Given the description of an element on the screen output the (x, y) to click on. 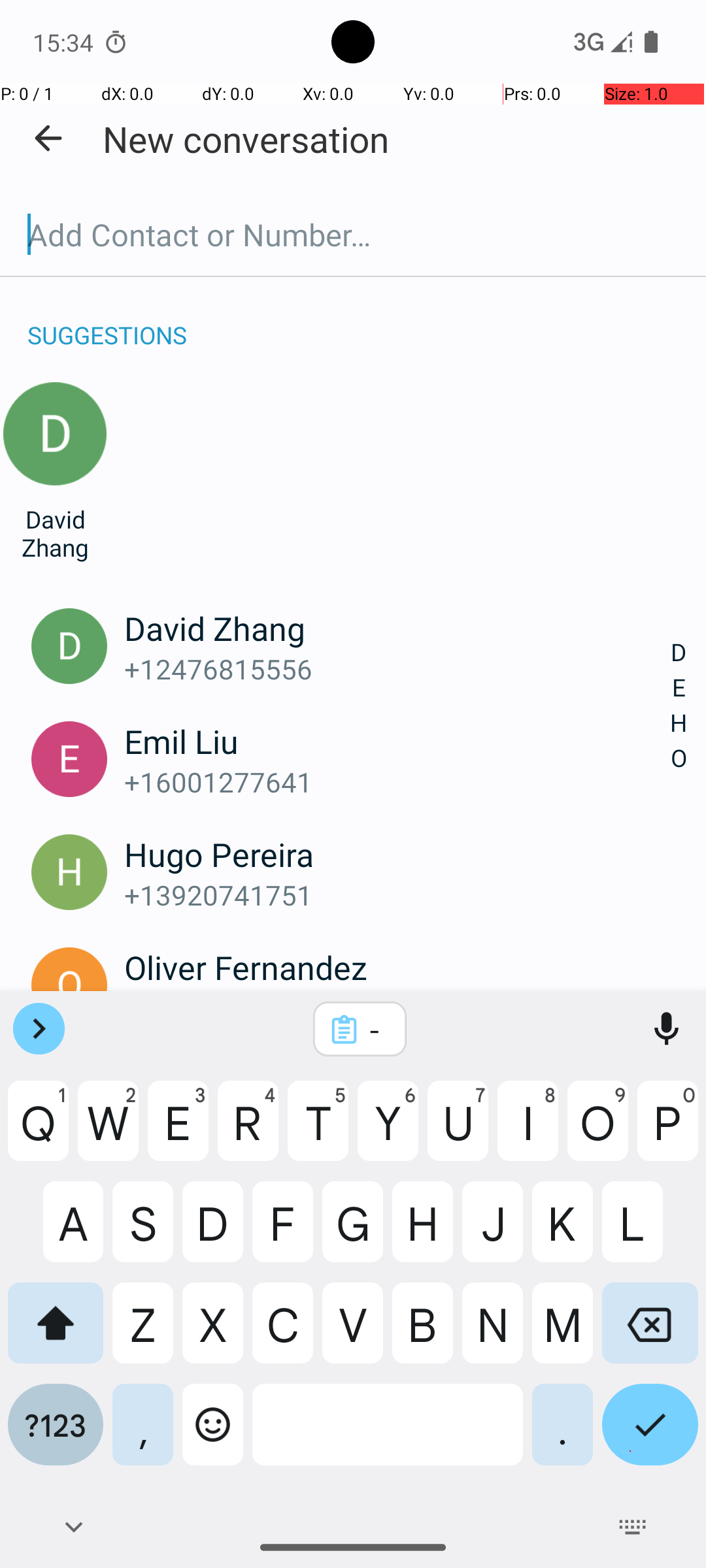
SUGGESTIONS Element type: android.widget.TextView (106, 321)
D
E
H
O Element type: android.widget.TextView (678, 705)
David Zhang Element type: android.widget.TextView (54, 532)
+12476815556 Element type: android.widget.TextView (397, 668)
+16001277641 Element type: android.widget.TextView (397, 781)
+13920741751 Element type: android.widget.TextView (397, 894)
Oliver Fernandez Element type: android.widget.TextView (397, 966)
+14685206759 Element type: android.widget.TextView (397, 1007)
